Given the description of an element on the screen output the (x, y) to click on. 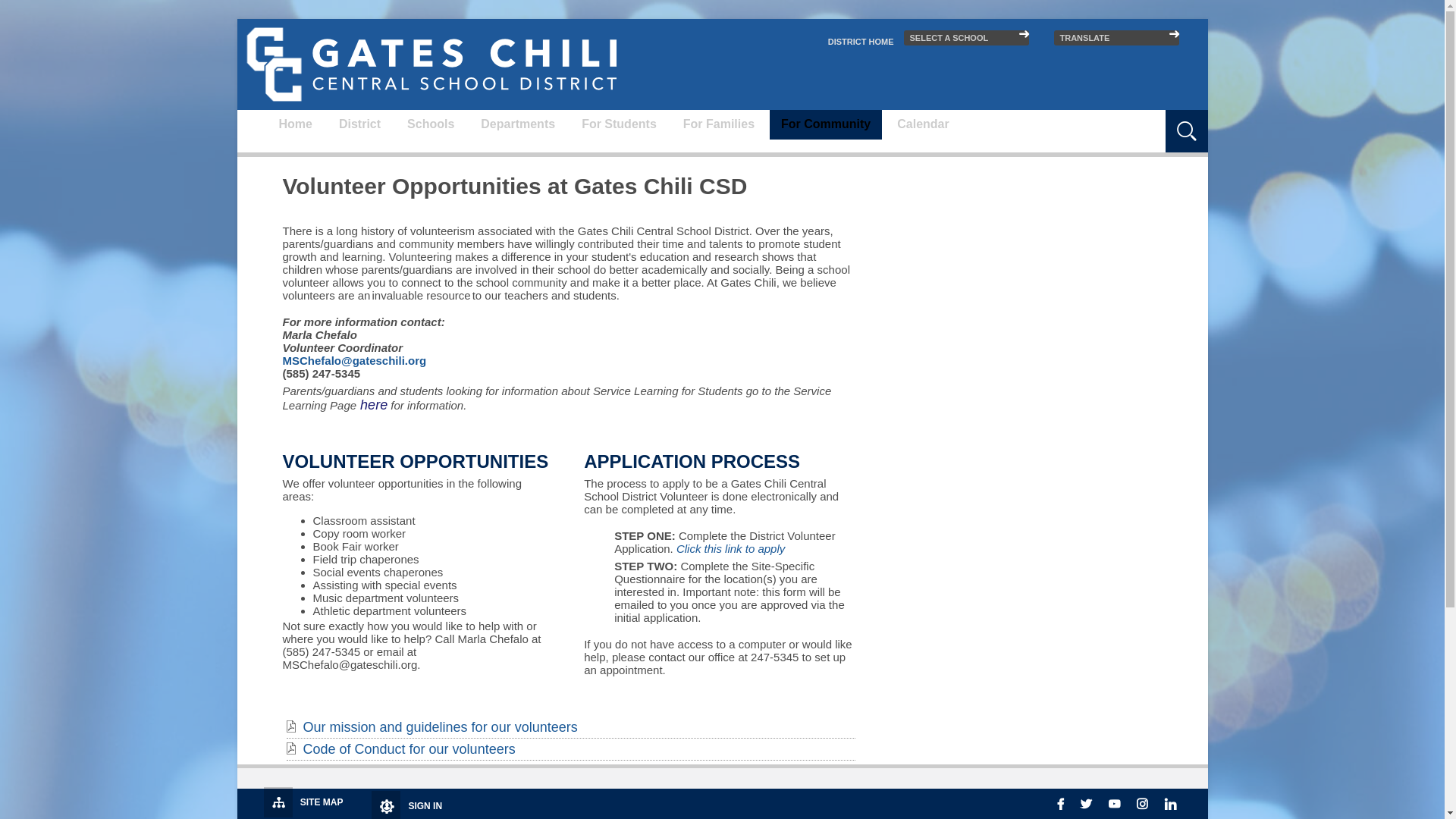
Search Term (1123, 120)
DISTRICT HOME (860, 41)
Gates Chili (425, 64)
Return to the homepage on the district site. (860, 41)
Search this site (1123, 120)
